Given the description of an element on the screen output the (x, y) to click on. 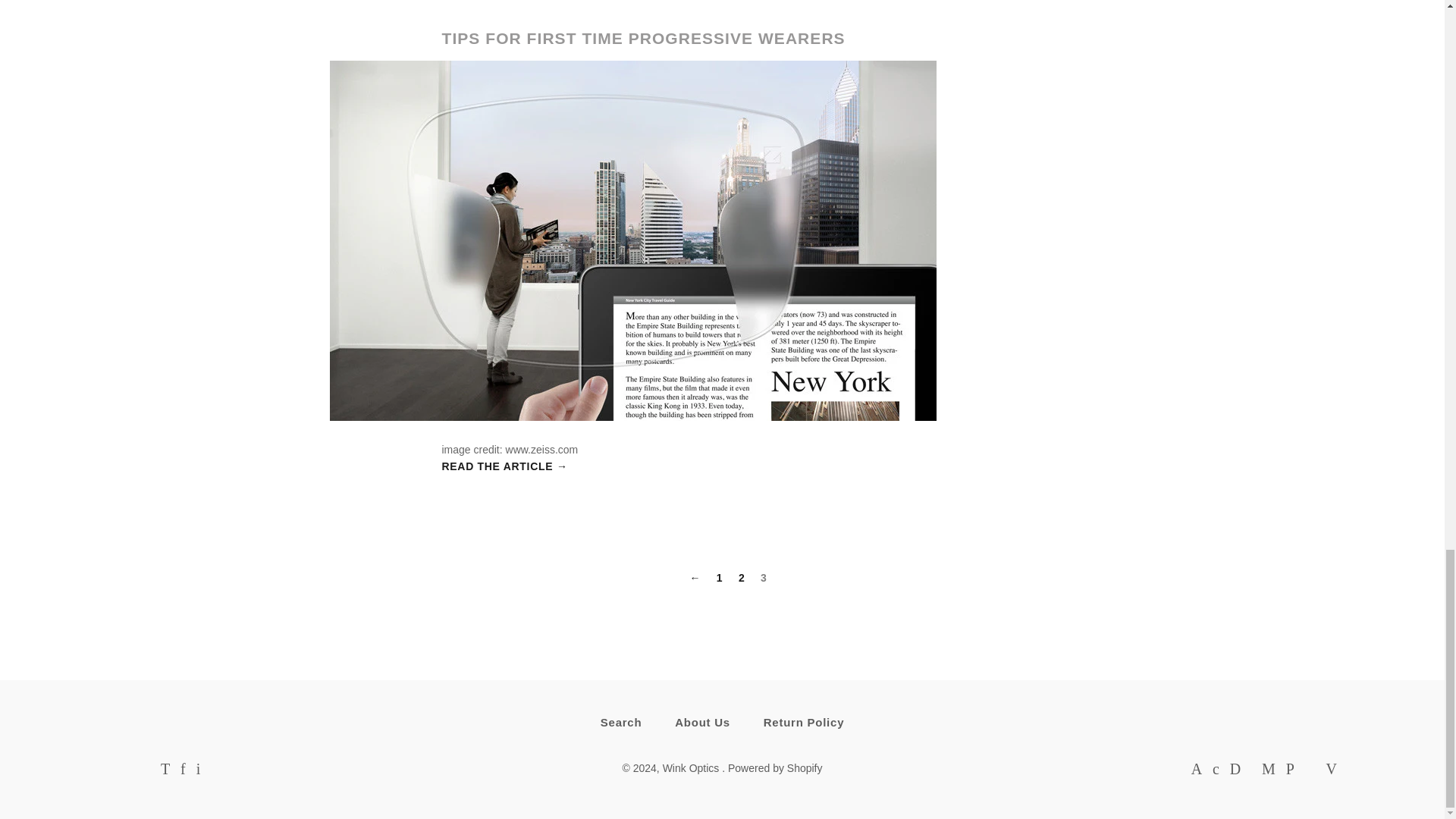
TIPS FOR FIRST TIME PROGRESSIVE WEARERS (642, 37)
Wink Optics  on Twitter (165, 770)
Wink Optics  on Facebook (183, 770)
Wink Optics  on Instagram (198, 770)
